Given the description of an element on the screen output the (x, y) to click on. 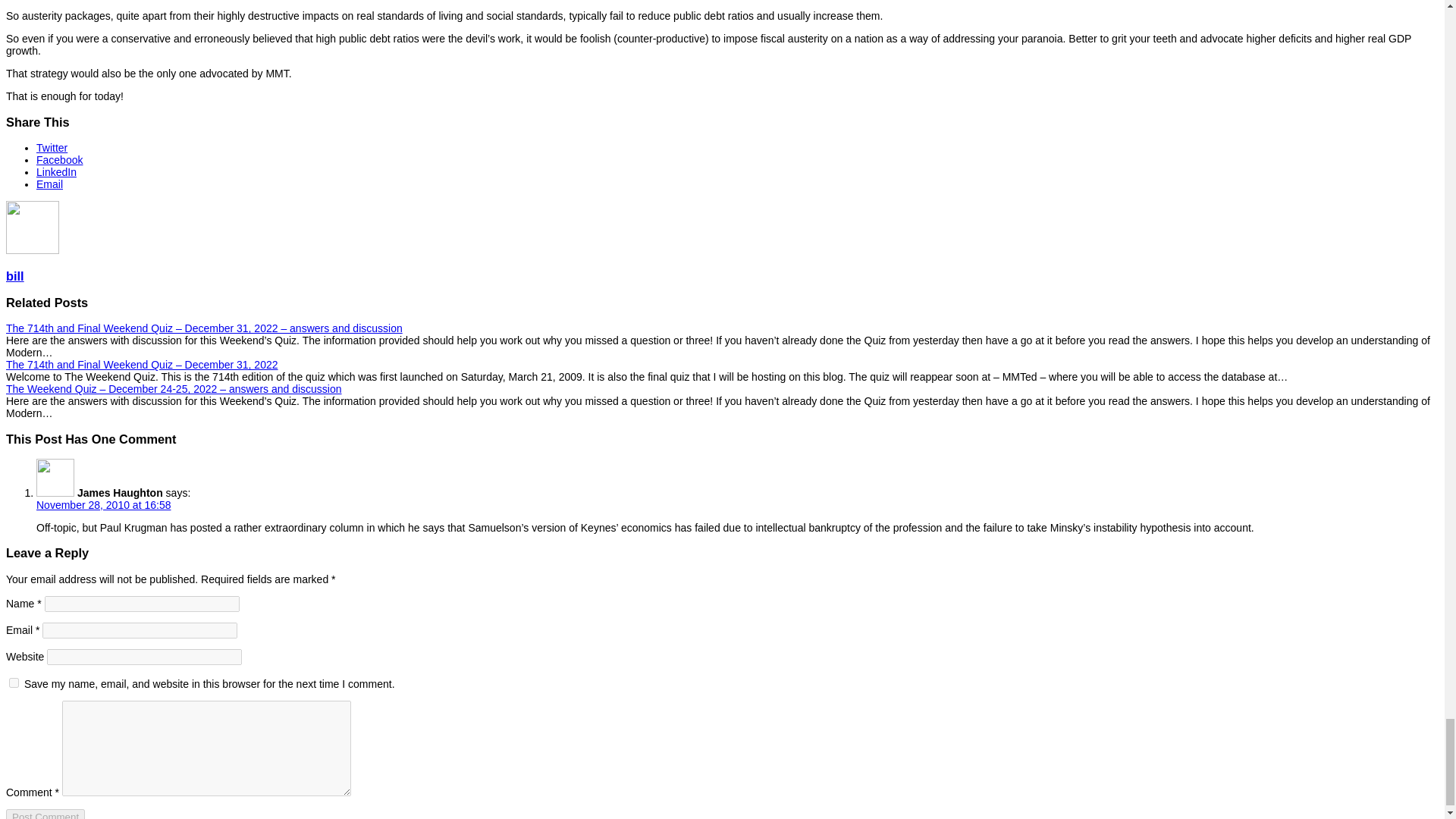
Visit Author Page (14, 275)
Visit Author Page (32, 250)
yes (13, 682)
